Given the description of an element on the screen output the (x, y) to click on. 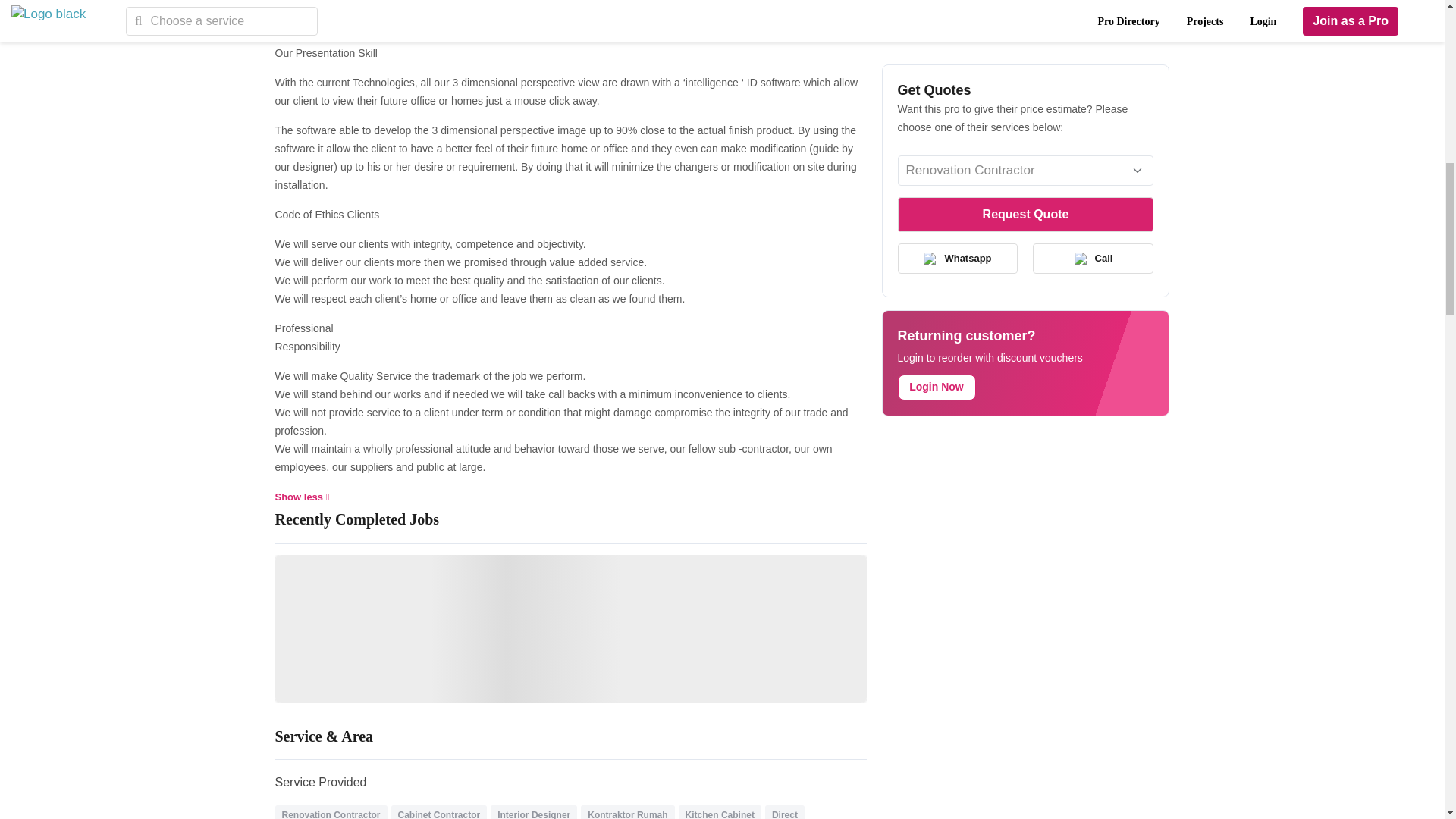
Direct (784, 814)
Kontraktor Rumah (627, 814)
Cabinet Contractor (438, 814)
Show less (302, 496)
Kitchen Cabinet (719, 814)
Renovation Contractor (331, 814)
Interior Designer (533, 814)
